Given the description of an element on the screen output the (x, y) to click on. 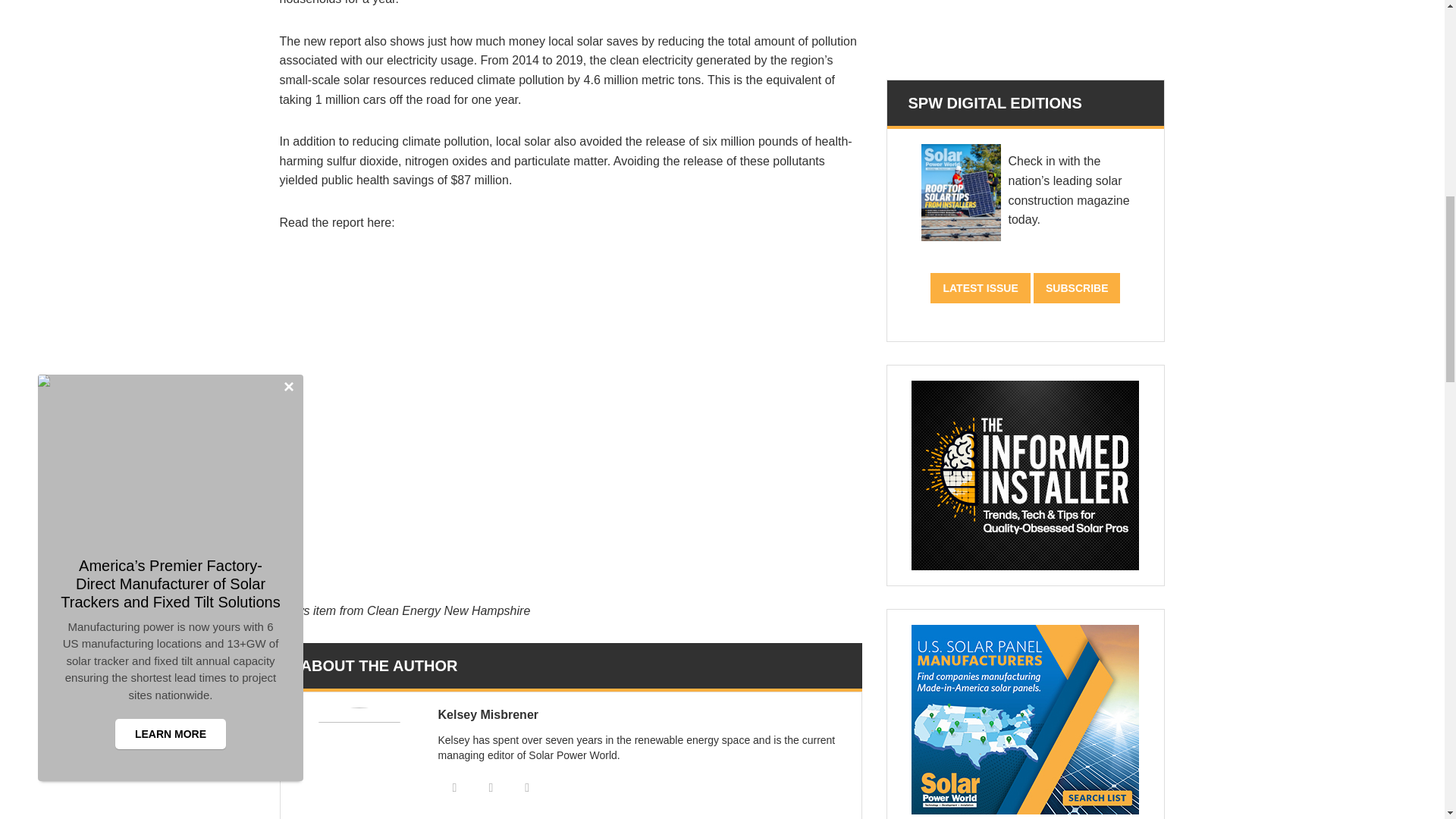
3rd party ad content (1024, 28)
